Given the description of an element on the screen output the (x, y) to click on. 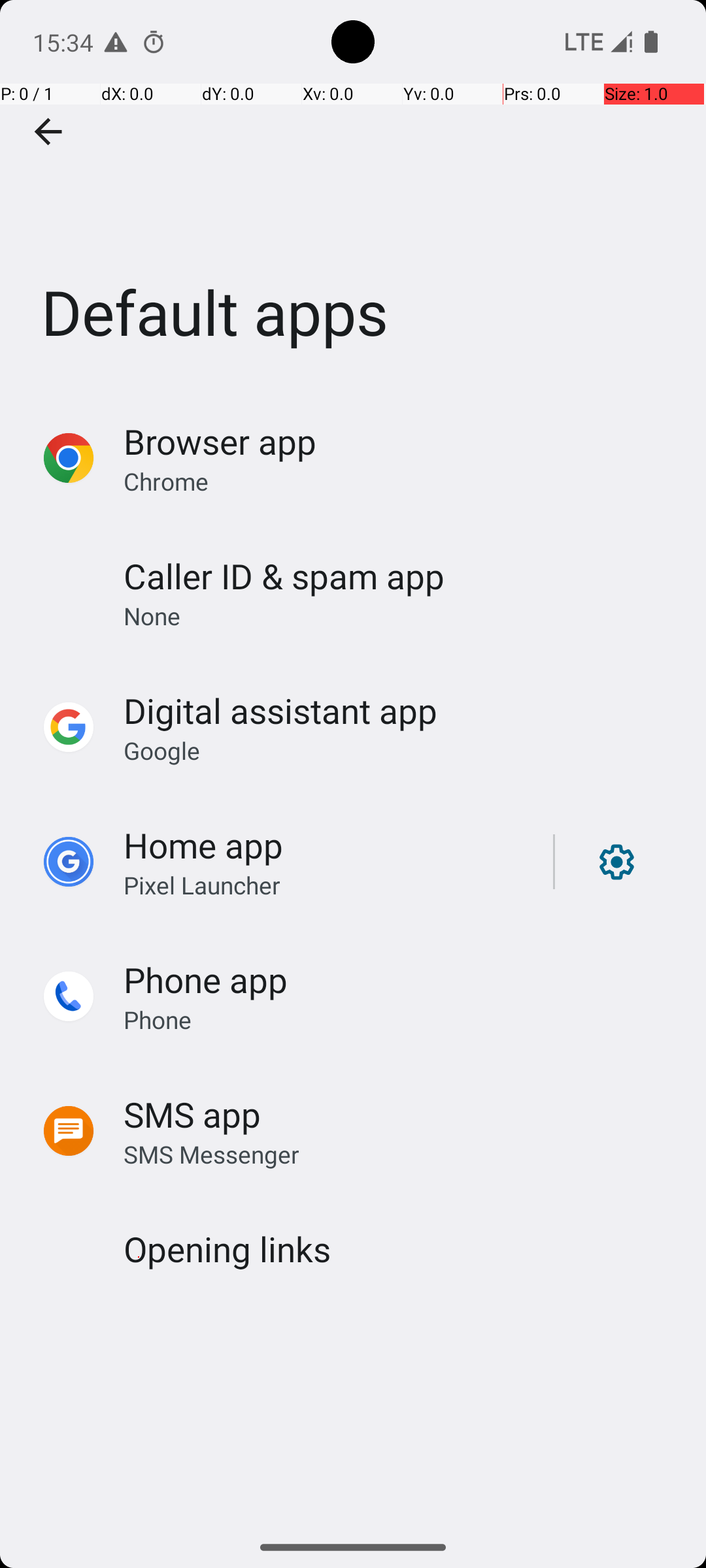
Default apps Element type: android.widget.FrameLayout (353, 195)
Browser app Element type: android.widget.TextView (220, 441)
Caller ID & spam app Element type: android.widget.TextView (283, 575)
Digital assistant app Element type: android.widget.TextView (280, 710)
Google Element type: android.widget.TextView (161, 750)
Home app Element type: android.widget.TextView (203, 844)
Pixel Launcher Element type: android.widget.TextView (201, 884)
Phone app Element type: android.widget.TextView (205, 979)
SMS app Element type: android.widget.TextView (191, 1114)
Opening links Element type: android.widget.TextView (226, 1248)
